Given the description of an element on the screen output the (x, y) to click on. 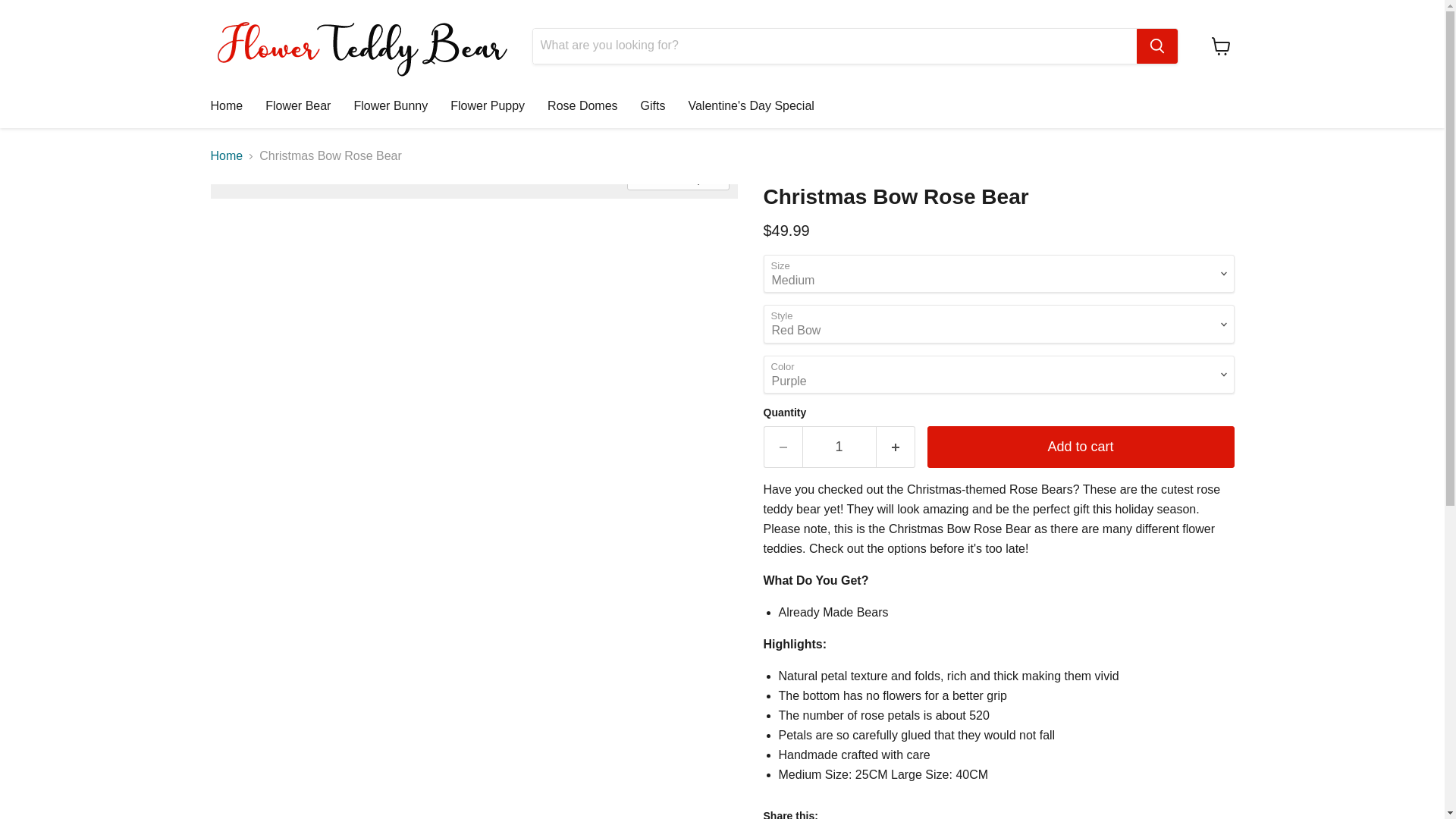
Flower Bear (297, 106)
Click to expand (678, 178)
Flower Bunny (390, 106)
Gifts (652, 106)
Rose Domes (581, 106)
Home (227, 155)
Valentine's Day Special (751, 106)
View cart (1221, 45)
1 (839, 446)
Flower Puppy (487, 106)
Home (225, 106)
